Given the description of an element on the screen output the (x, y) to click on. 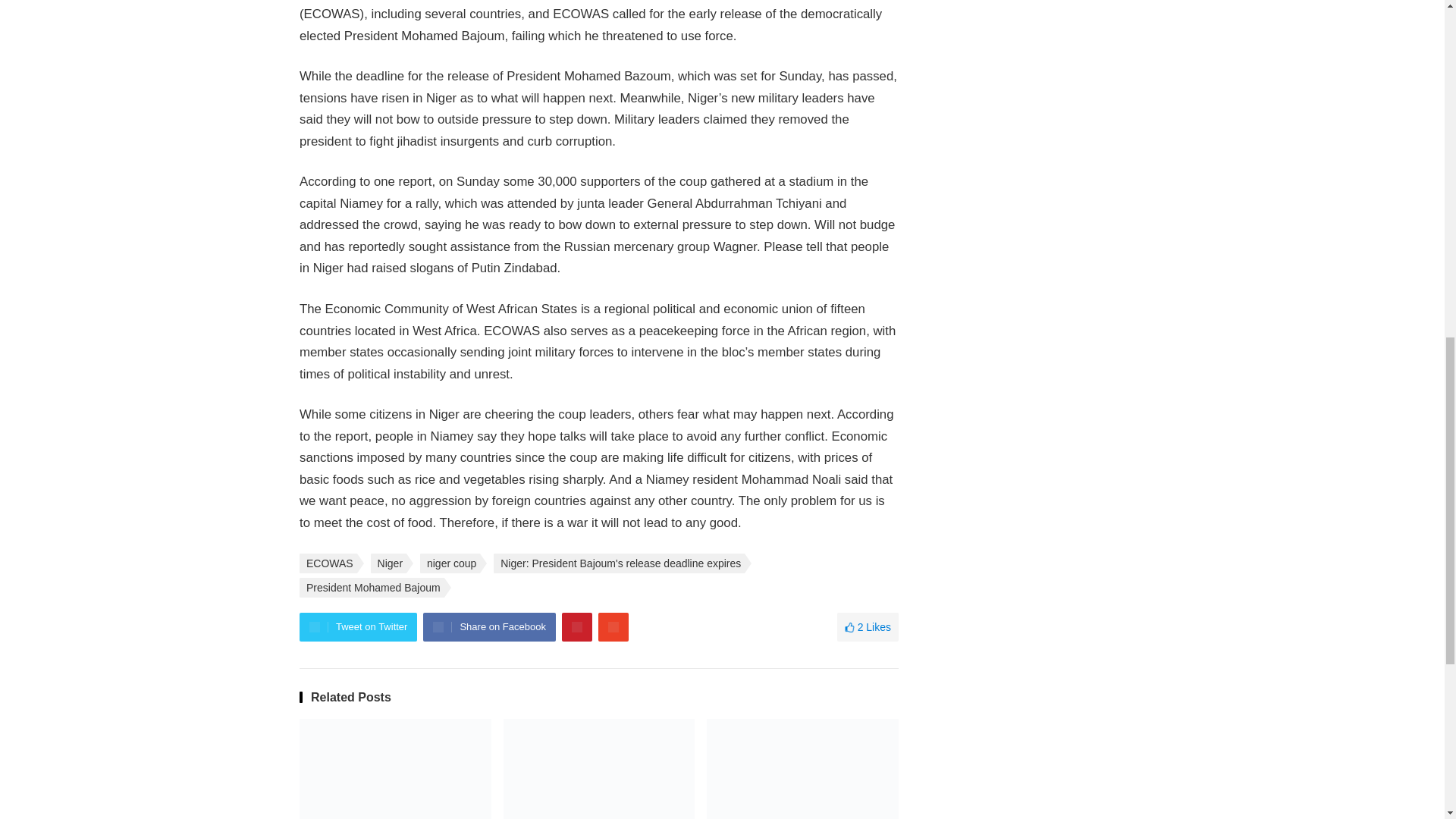
Like this post (867, 626)
